Given the description of an element on the screen output the (x, y) to click on. 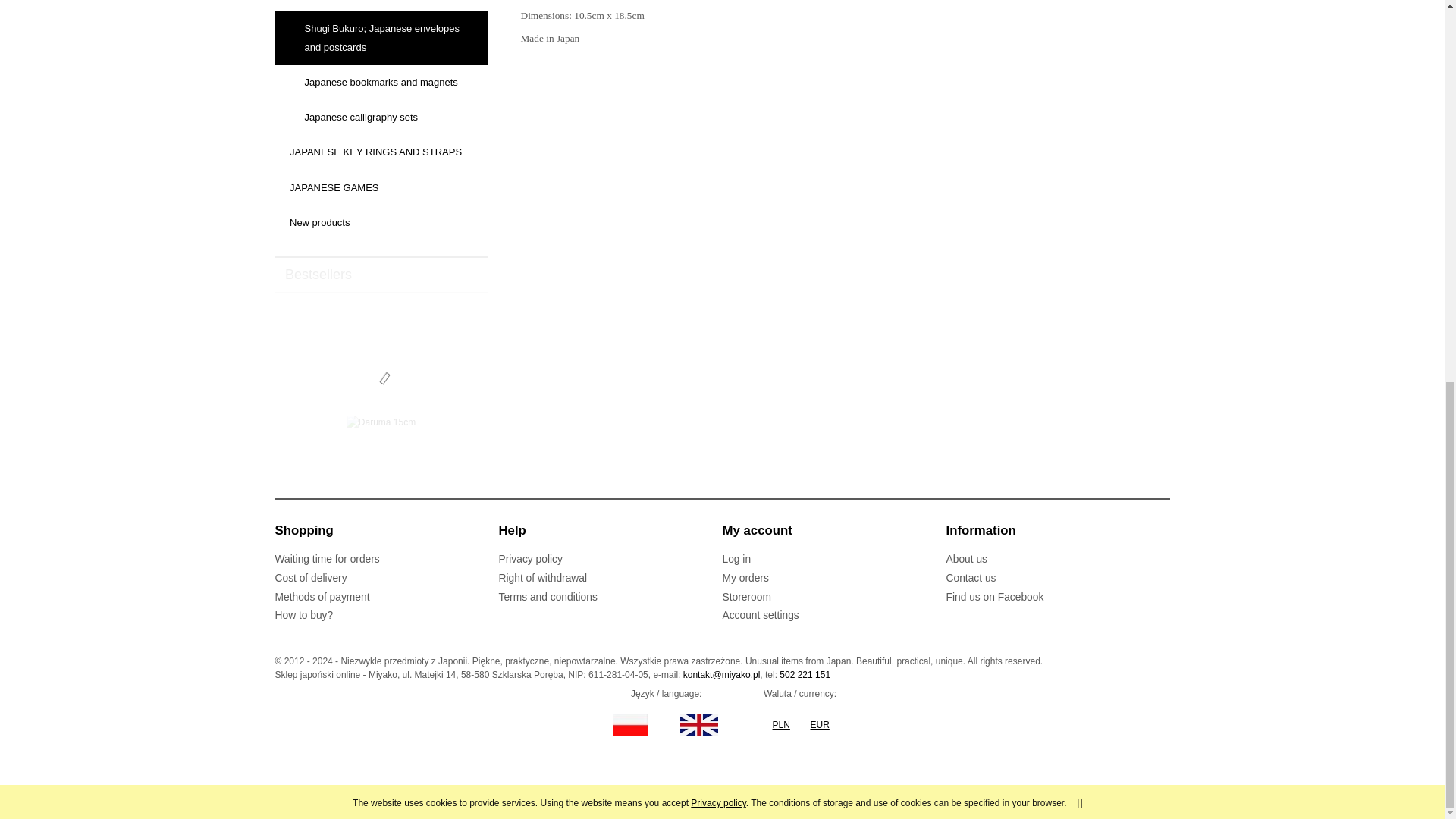
Japanese pens and pencils (380, 5)
Japanese bookmarks and magnets (380, 82)
New products (380, 222)
Shugi Bukuro; Japanese envelopes and postcards (380, 38)
Japanese calligraphy sets (380, 117)
Privacy policy (717, 90)
JAPANESE KEY RINGS AND STRAPS (380, 151)
JAPANESE GAMES (380, 187)
Japanese pens and pencils (380, 5)
